Given the description of an element on the screen output the (x, y) to click on. 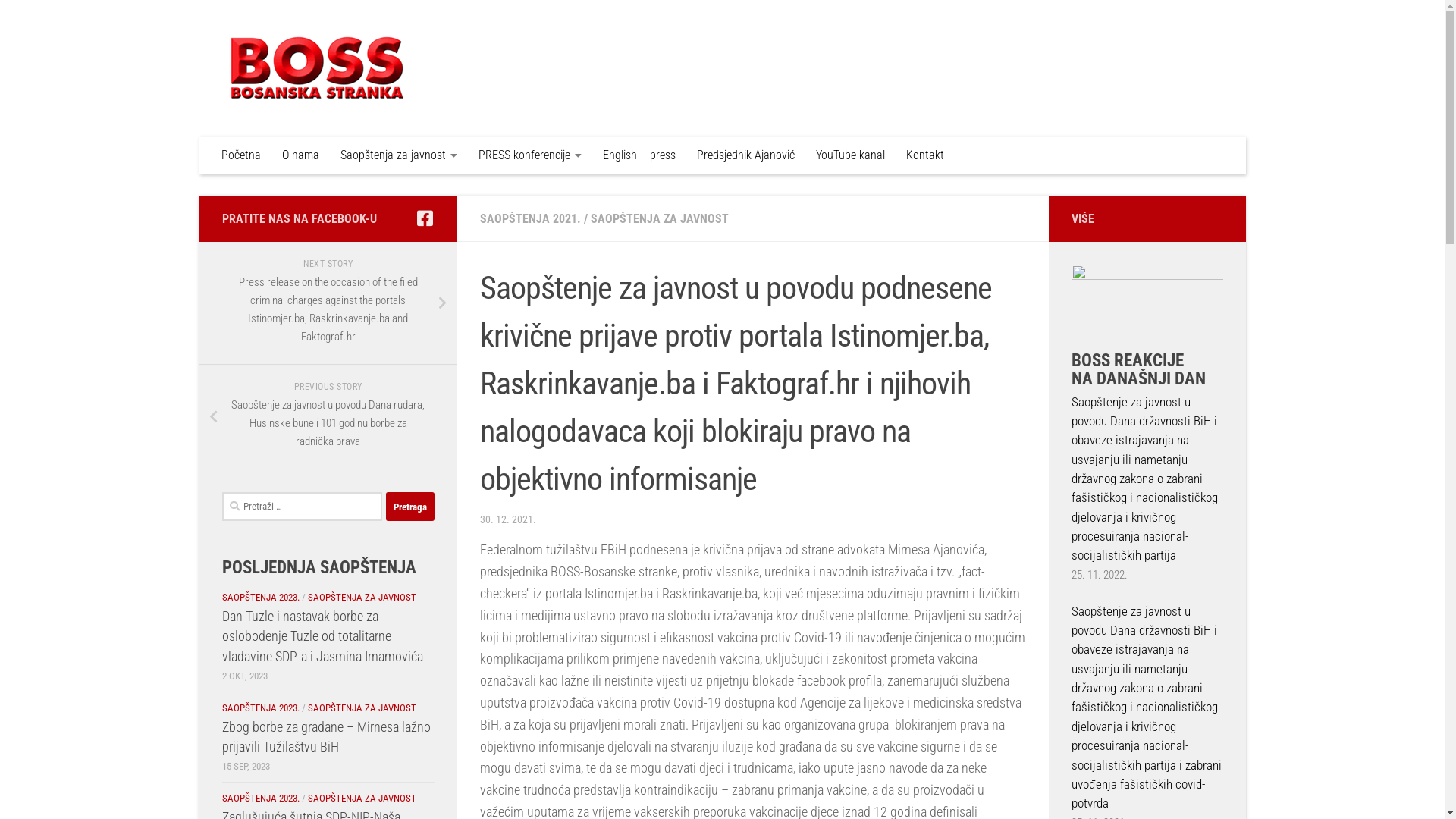
Kontakt Element type: text (923, 155)
YouTube kanal Element type: text (850, 155)
Pretraga Element type: text (409, 506)
Pratite nas putem Facebook-a Element type: hover (424, 218)
Skip to content Element type: text (57, 21)
PRESS konferencije Element type: text (529, 155)
O nama Element type: text (300, 155)
